Given the description of an element on the screen output the (x, y) to click on. 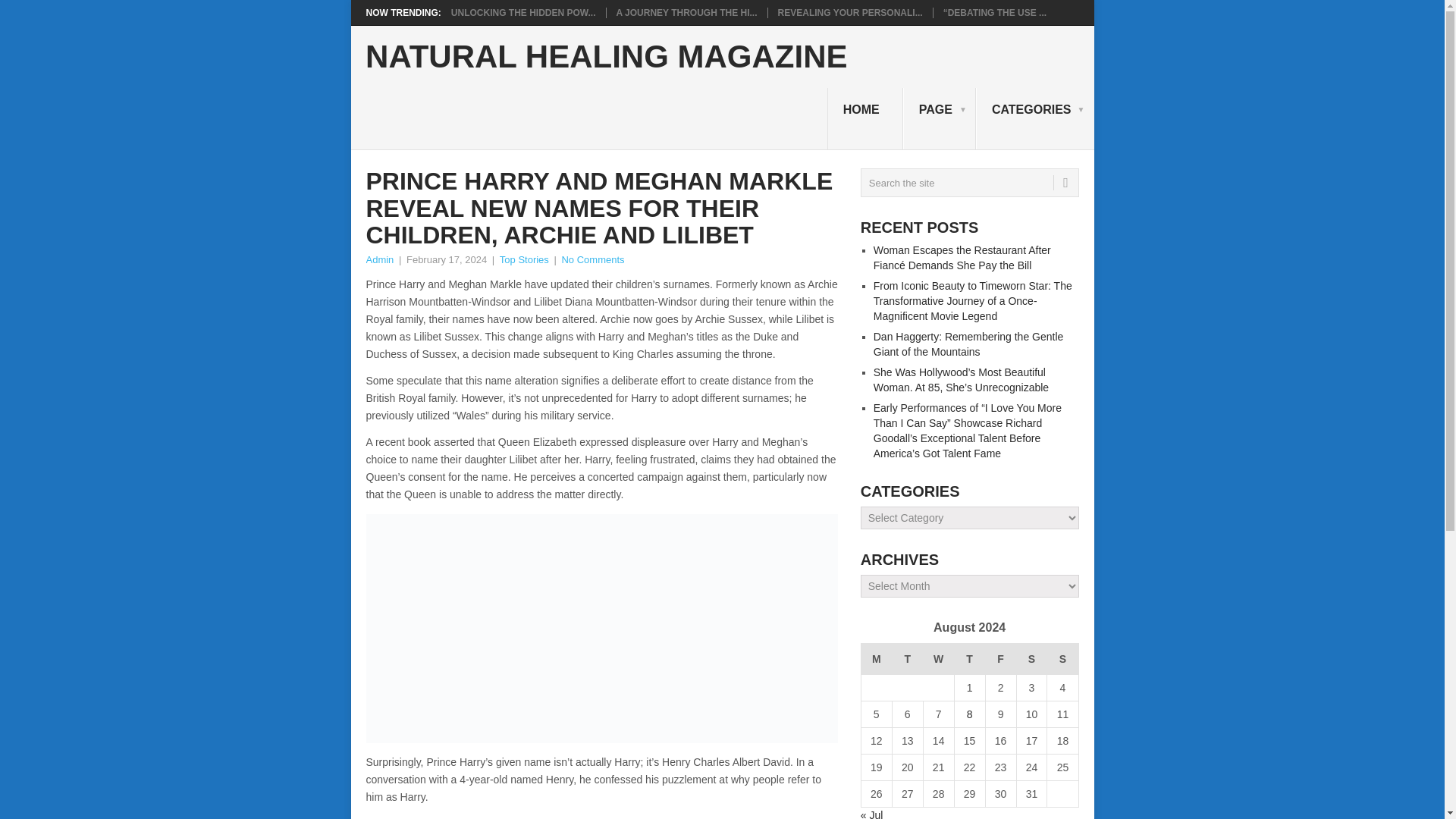
Top Stories (523, 259)
Admin (379, 259)
A Journey Through the History of Kitchen Gadgets (686, 12)
A JOURNEY THROUGH THE HI... (686, 12)
HOME (864, 118)
Tuesday (907, 658)
CATEGORIES (1034, 118)
REVEALING YOUR PERSONALI... (850, 12)
